Given the description of an element on the screen output the (x, y) to click on. 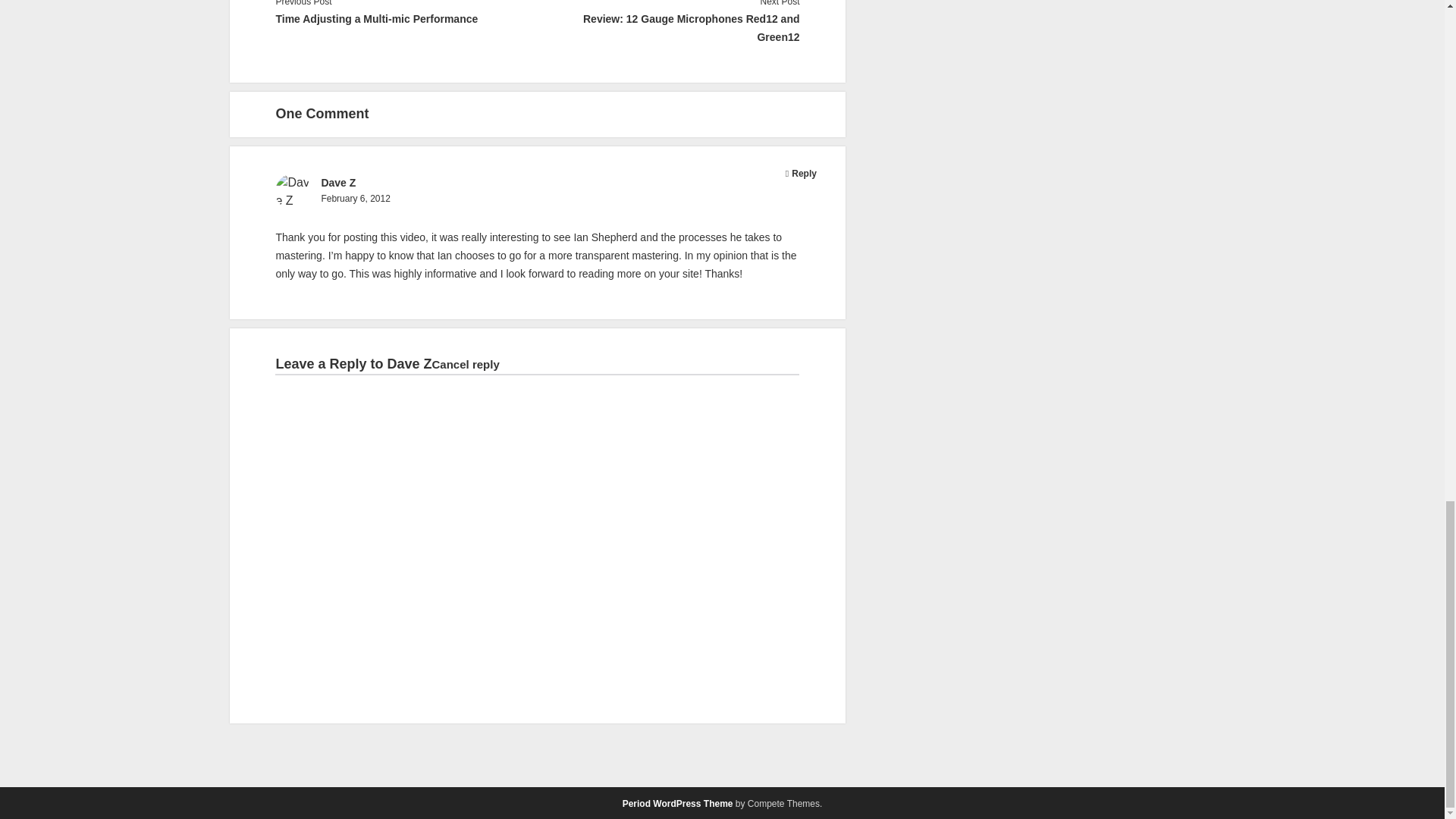
Time Adjusting a Multi-mic Performance (406, 18)
Cancel reply (465, 364)
Dave Z (408, 363)
Review: 12 Gauge Microphones Red12 and Green12 (668, 27)
Period WordPress Theme (678, 803)
Reply (804, 173)
Dave Z (337, 182)
